Given the description of an element on the screen output the (x, y) to click on. 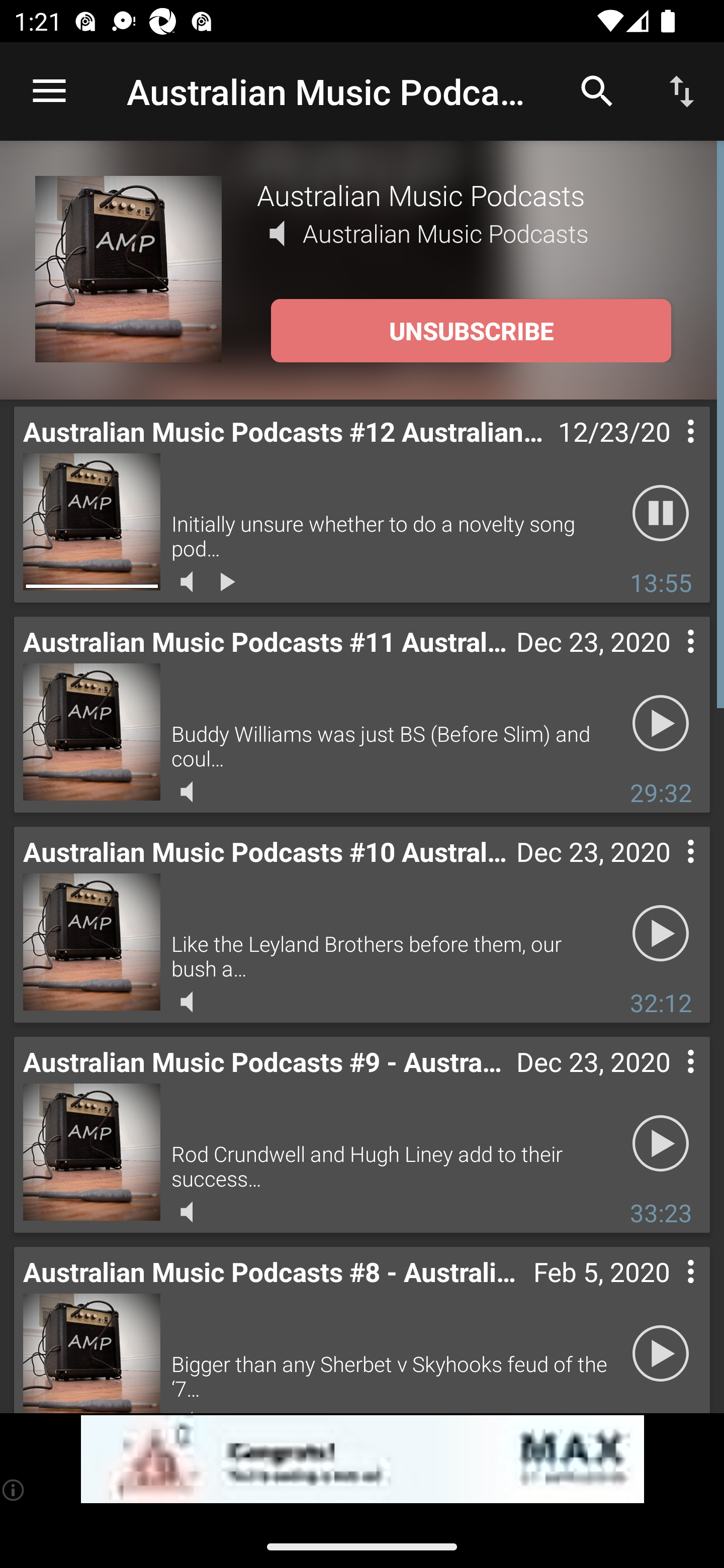
Open navigation sidebar (49, 91)
Search (597, 90)
Sort (681, 90)
UNSUBSCRIBE (470, 330)
Contextual menu (668, 451)
Pause (660, 513)
Contextual menu (668, 661)
Play (660, 723)
Contextual menu (668, 870)
Play (660, 933)
Contextual menu (668, 1080)
Play (660, 1143)
Contextual menu (668, 1290)
Play (660, 1353)
app-monetization (362, 1459)
(i) (14, 1489)
